Given the description of an element on the screen output the (x, y) to click on. 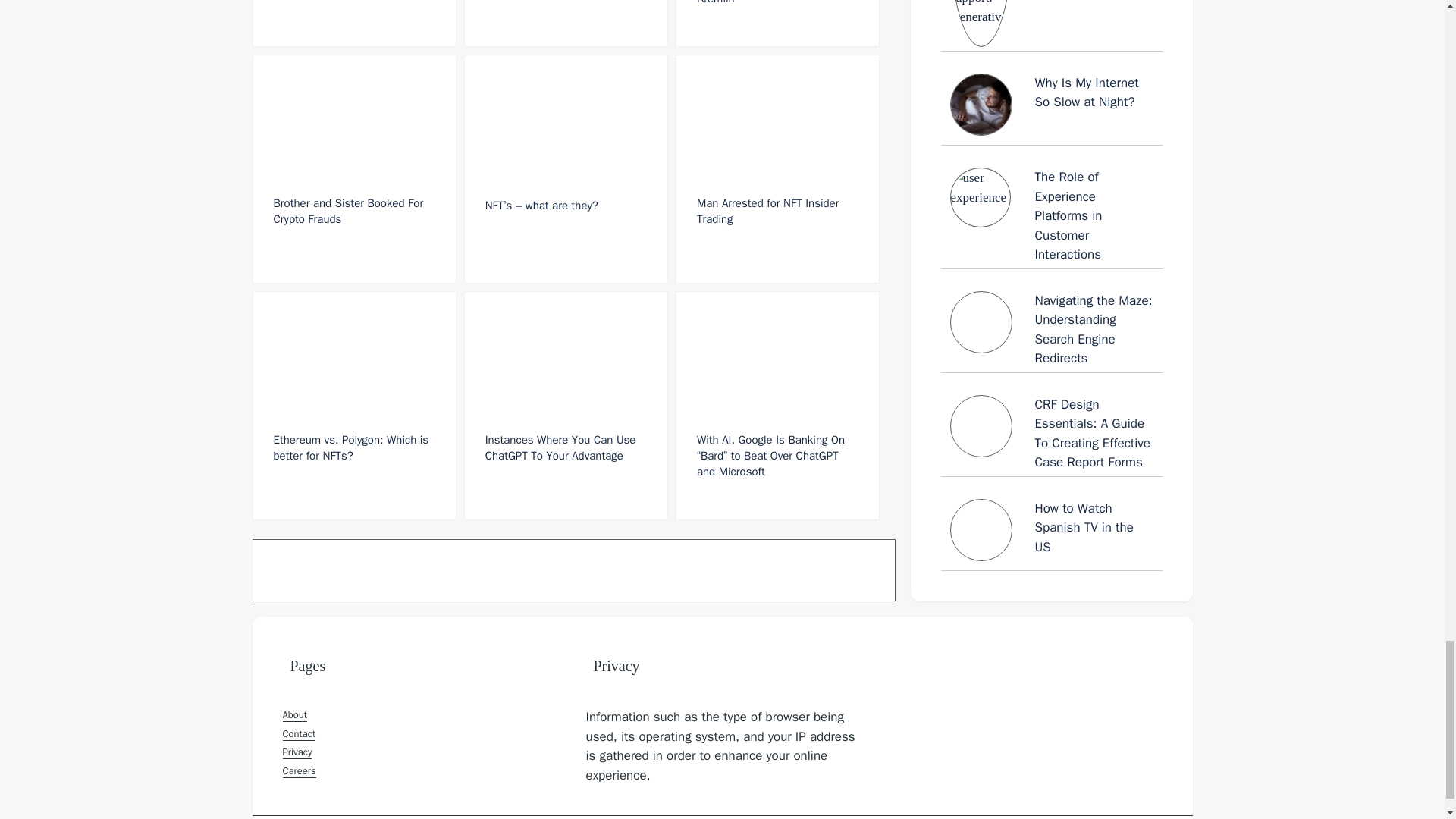
Best Cryptocurrencies You Can Go For In 2022 (566, 23)
Intel Is Developing an Energy-Efficient Mining GPU (353, 23)
Man Arrested for NFT Insider Trading (777, 168)
Brother and Sister Booked For Crypto Frauds (353, 168)
Brother and Sister Booked For Crypto Frauds (353, 168)
Ethereum vs. Polygon: Which is better for NFTs? (353, 405)
Instances Where You Can Use ChatGPT To Your Advantage (566, 405)
Intel Is Developing an Energy-Efficient Mining GPU (353, 23)
Best Cryptocurrencies You Can Go For In 2022 (566, 23)
